Given the description of an element on the screen output the (x, y) to click on. 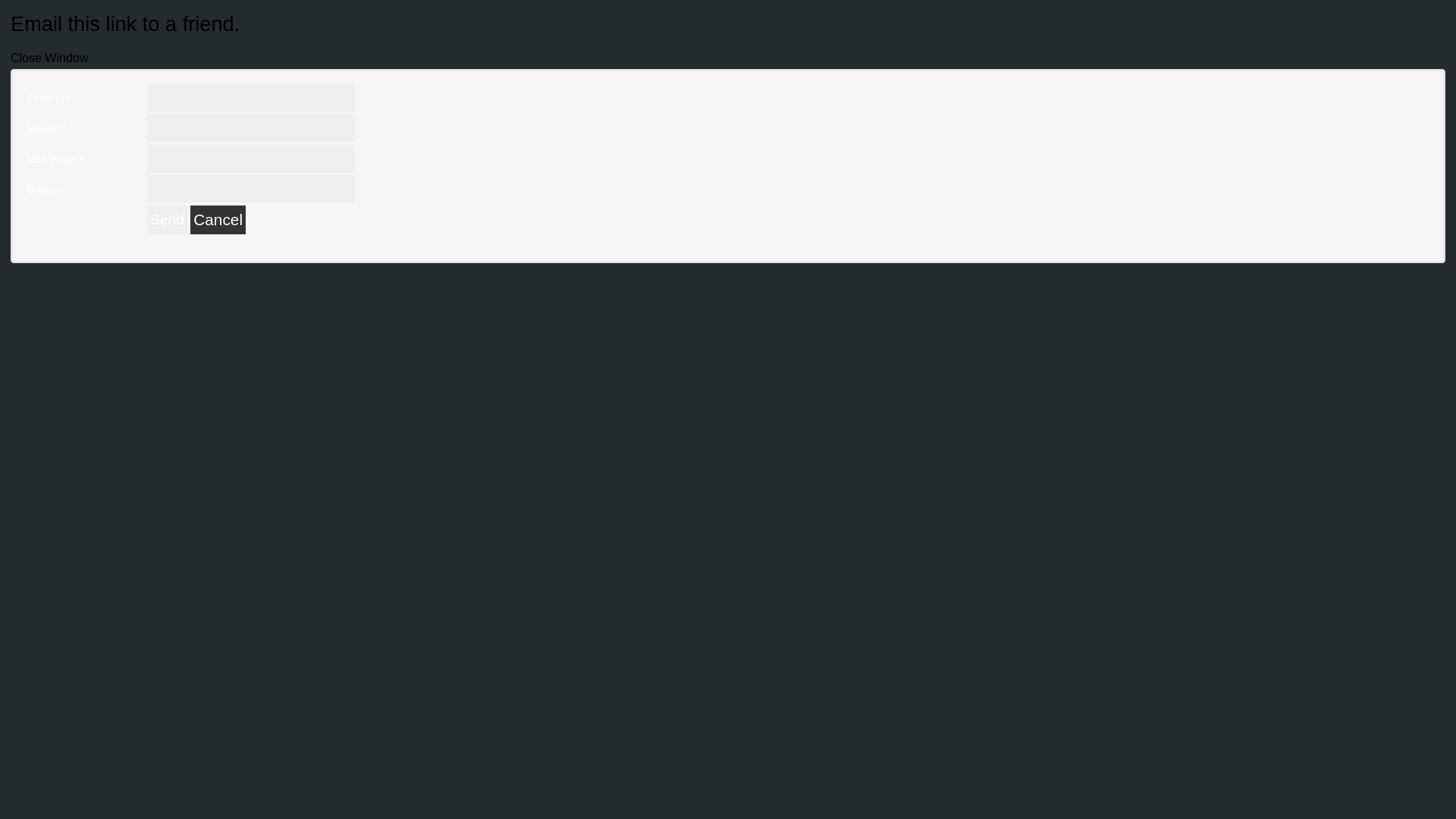
Close Window Element type: text (48, 57)
Cancel Element type: text (217, 219)
Send Element type: text (167, 219)
